Given the description of an element on the screen output the (x, y) to click on. 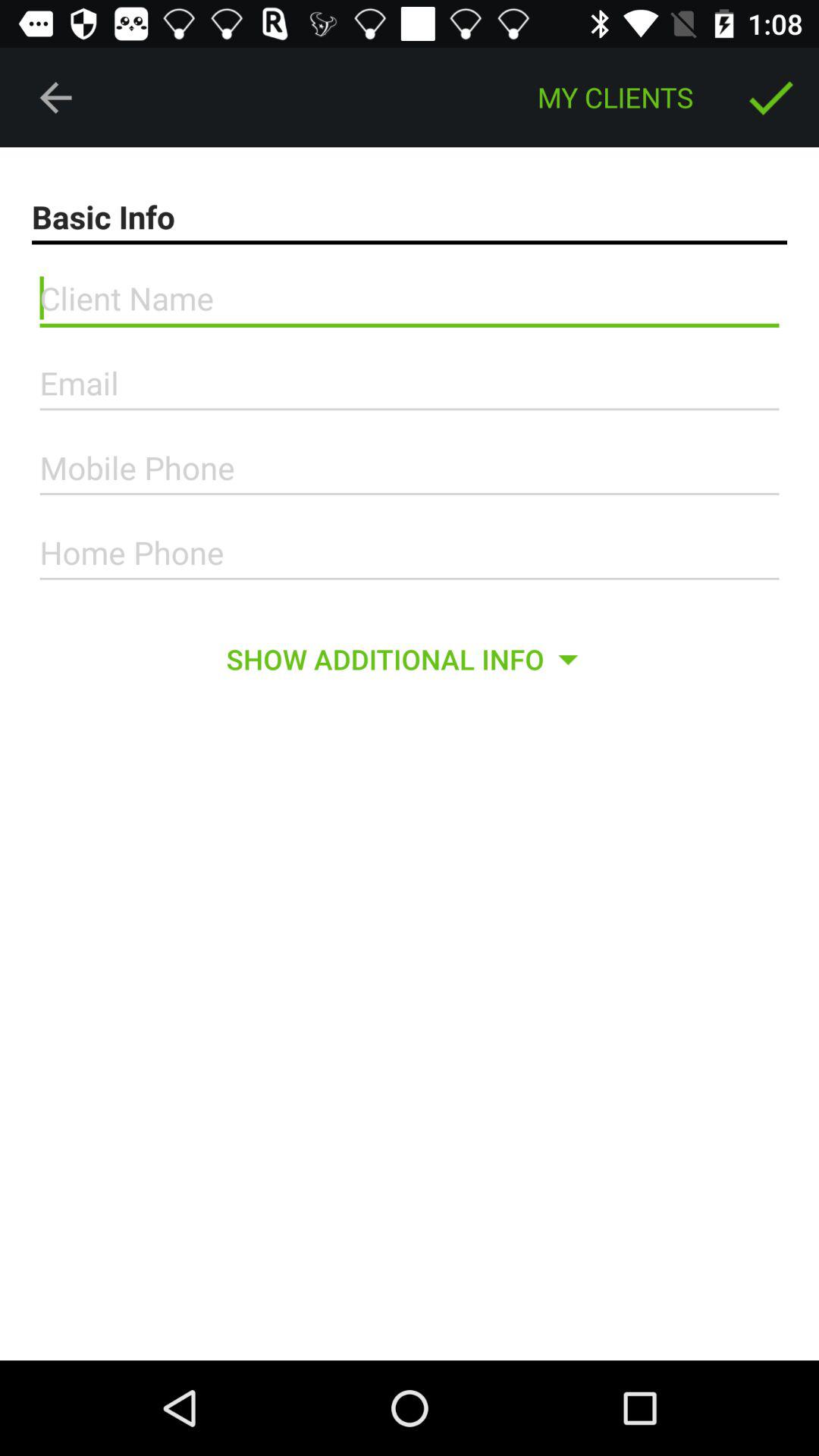
enter mobile phone number (409, 467)
